Given the description of an element on the screen output the (x, y) to click on. 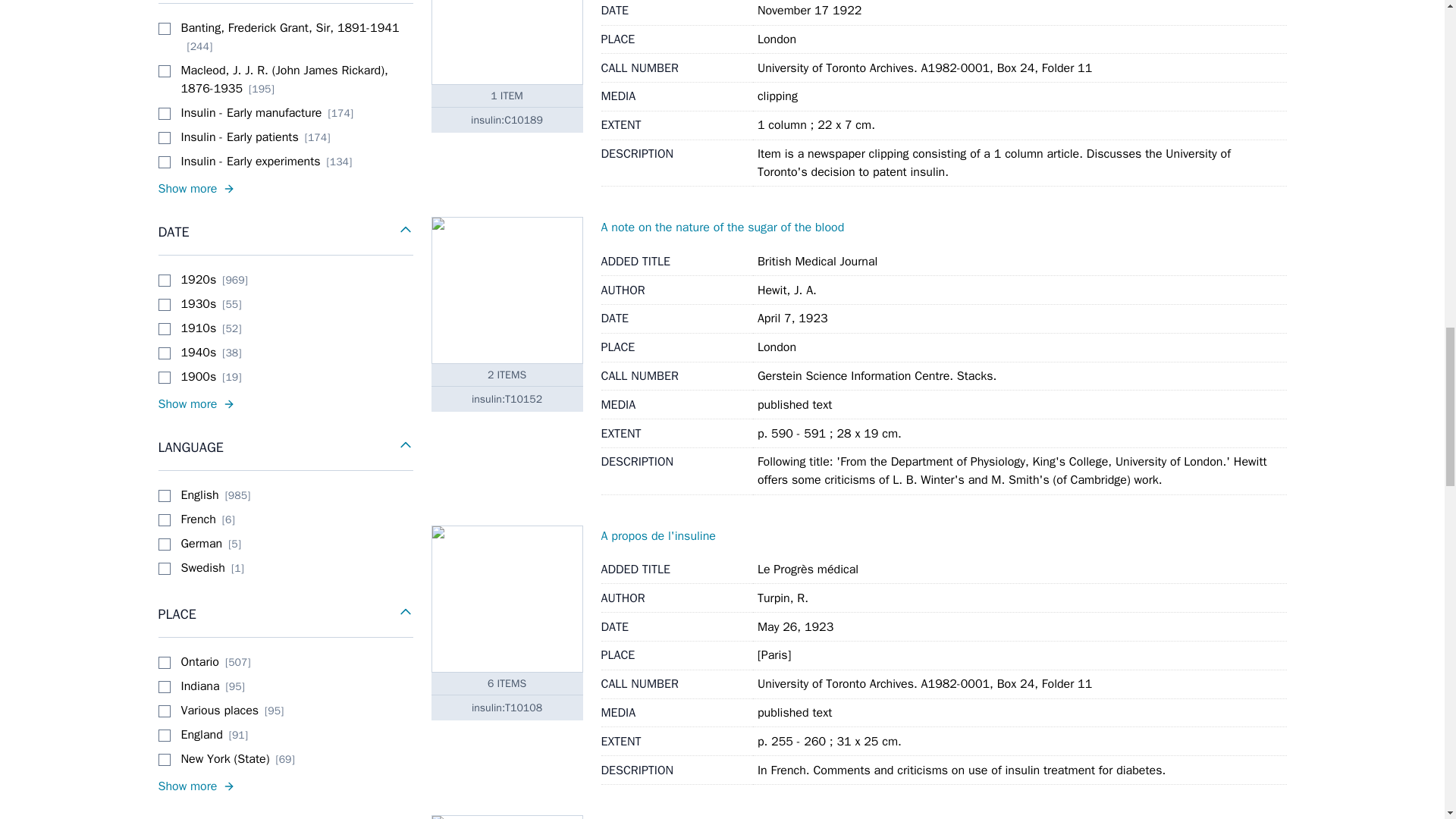
Digital Identifier: insulin:T10152 (506, 398)
Digital Identifier: insulin:T10108 (506, 707)
Digital Identifier: insulin:C10189 (506, 119)
